Given the description of an element on the screen output the (x, y) to click on. 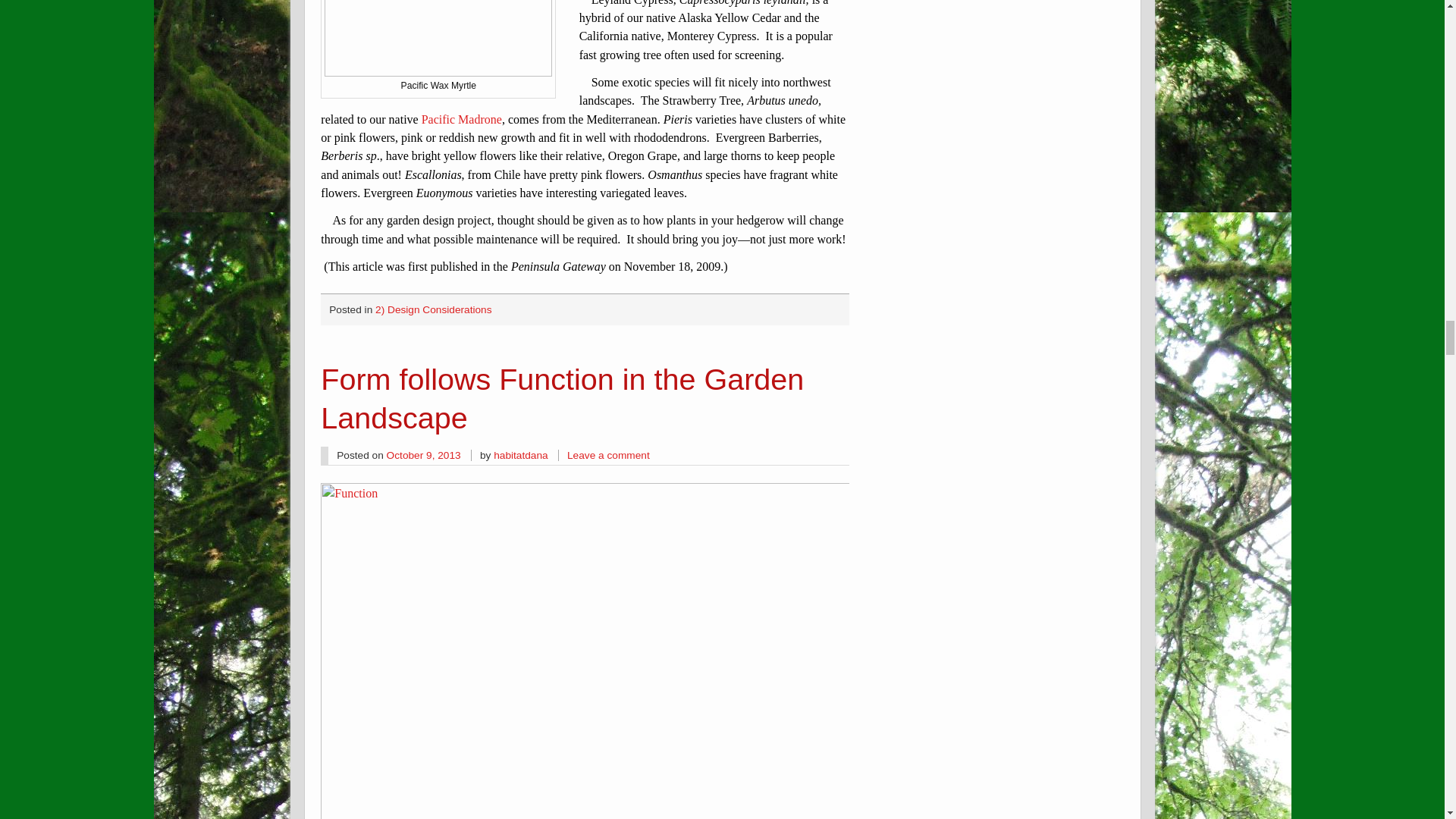
1:16 PM (424, 455)
View all posts by habitatdana (520, 455)
